Given the description of an element on the screen output the (x, y) to click on. 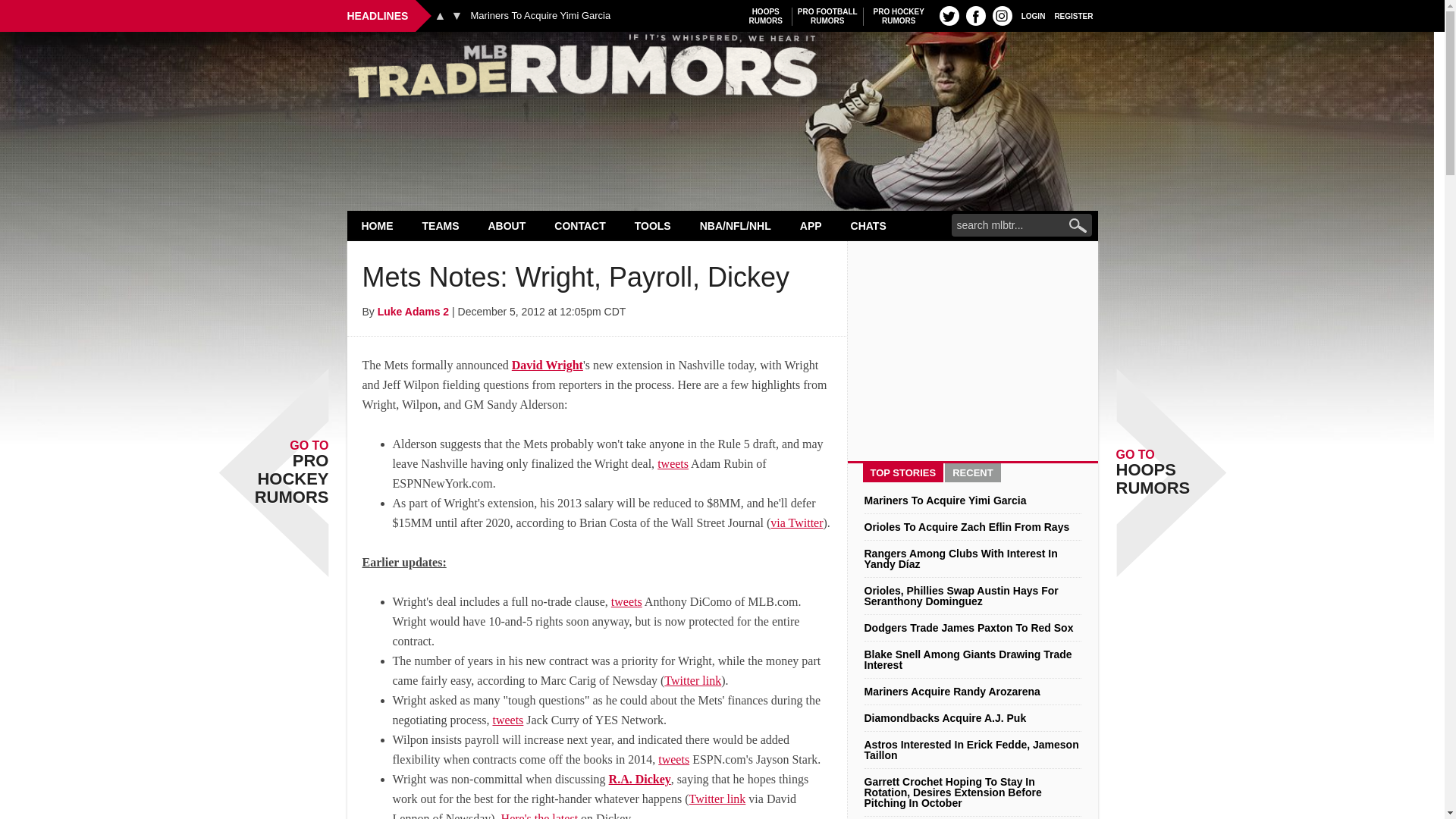
TEAMS (440, 225)
Previous (827, 16)
FB profile (439, 15)
Mariners To Acquire Yimi Garcia (975, 15)
LOGIN (898, 16)
Search (540, 15)
Instagram profile (1032, 15)
HOME (1001, 15)
MLB Trade Rumors (1073, 15)
Twitter profile (377, 225)
Next (722, 69)
